Given the description of an element on the screen output the (x, y) to click on. 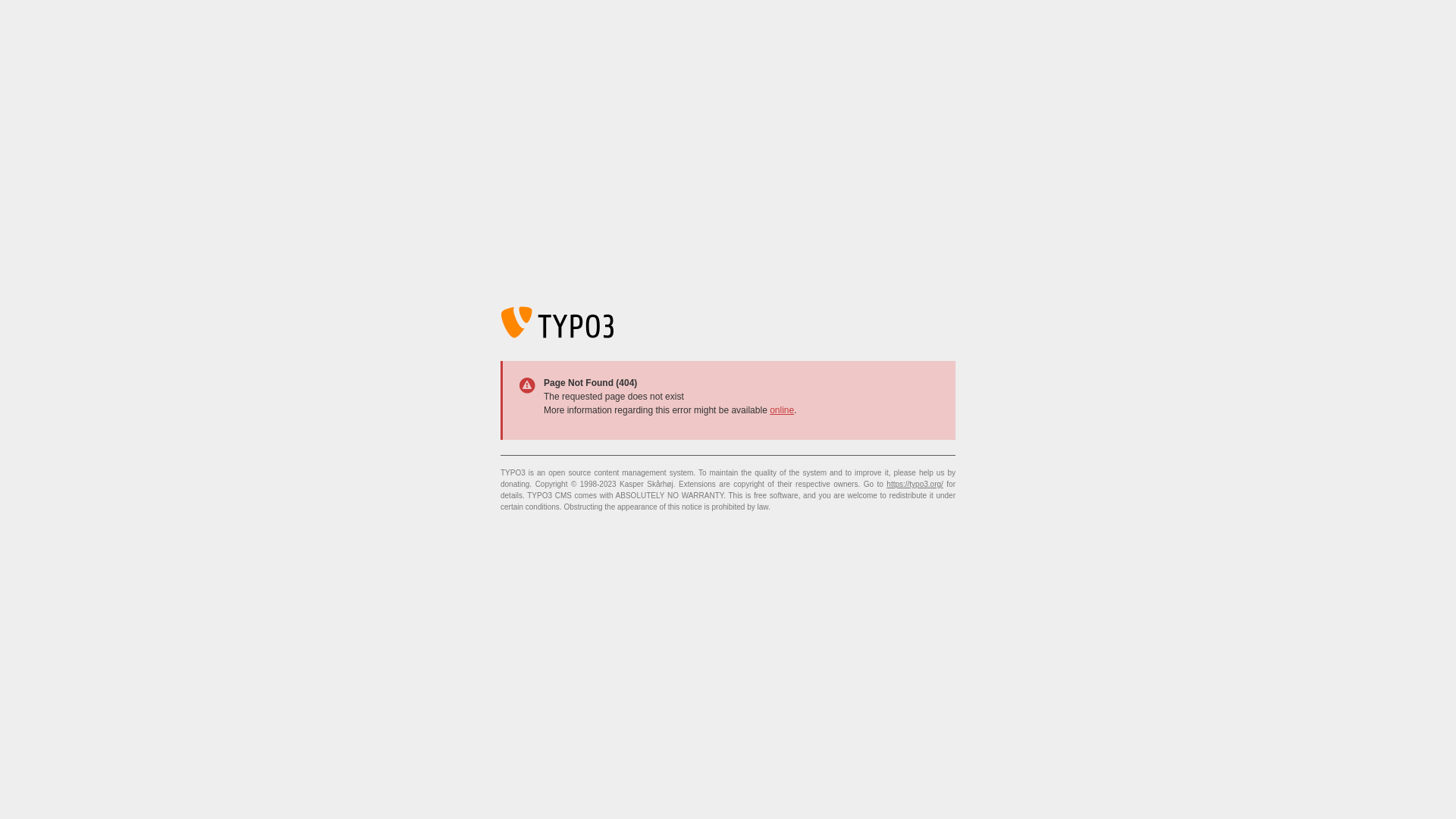
online Element type: text (781, 409)
https://typo3.org/ Element type: text (914, 484)
